Given the description of an element on the screen output the (x, y) to click on. 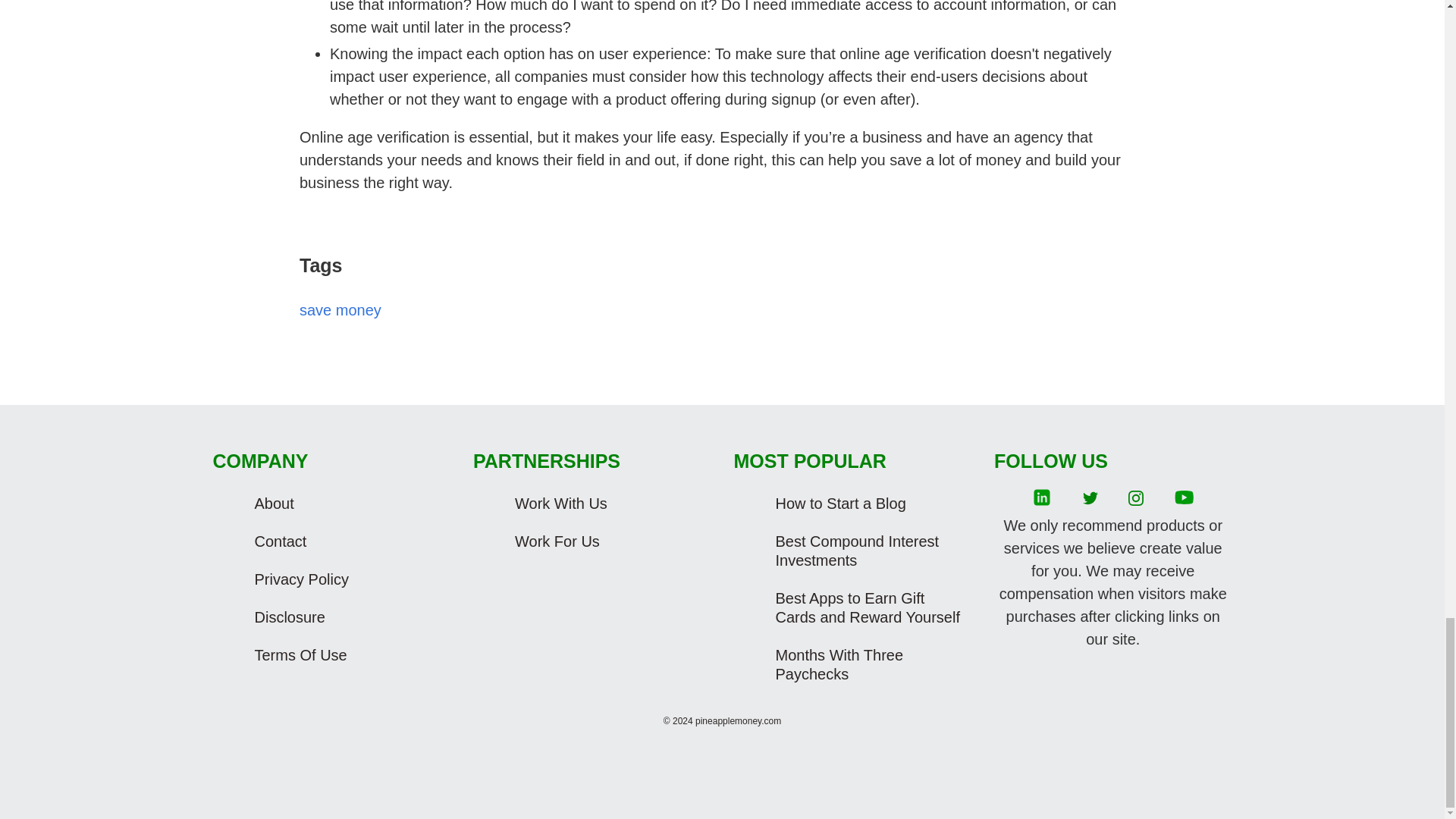
instagram (1136, 498)
twitter (1090, 498)
save money (340, 310)
Best Apps to Earn Gift Cards and Reward Yourself (868, 607)
Months With Three Paychecks (868, 664)
Disclosure (346, 617)
Privacy Policy (346, 579)
About (346, 503)
Work With Us (607, 503)
Contact (346, 541)
